Given the description of an element on the screen output the (x, y) to click on. 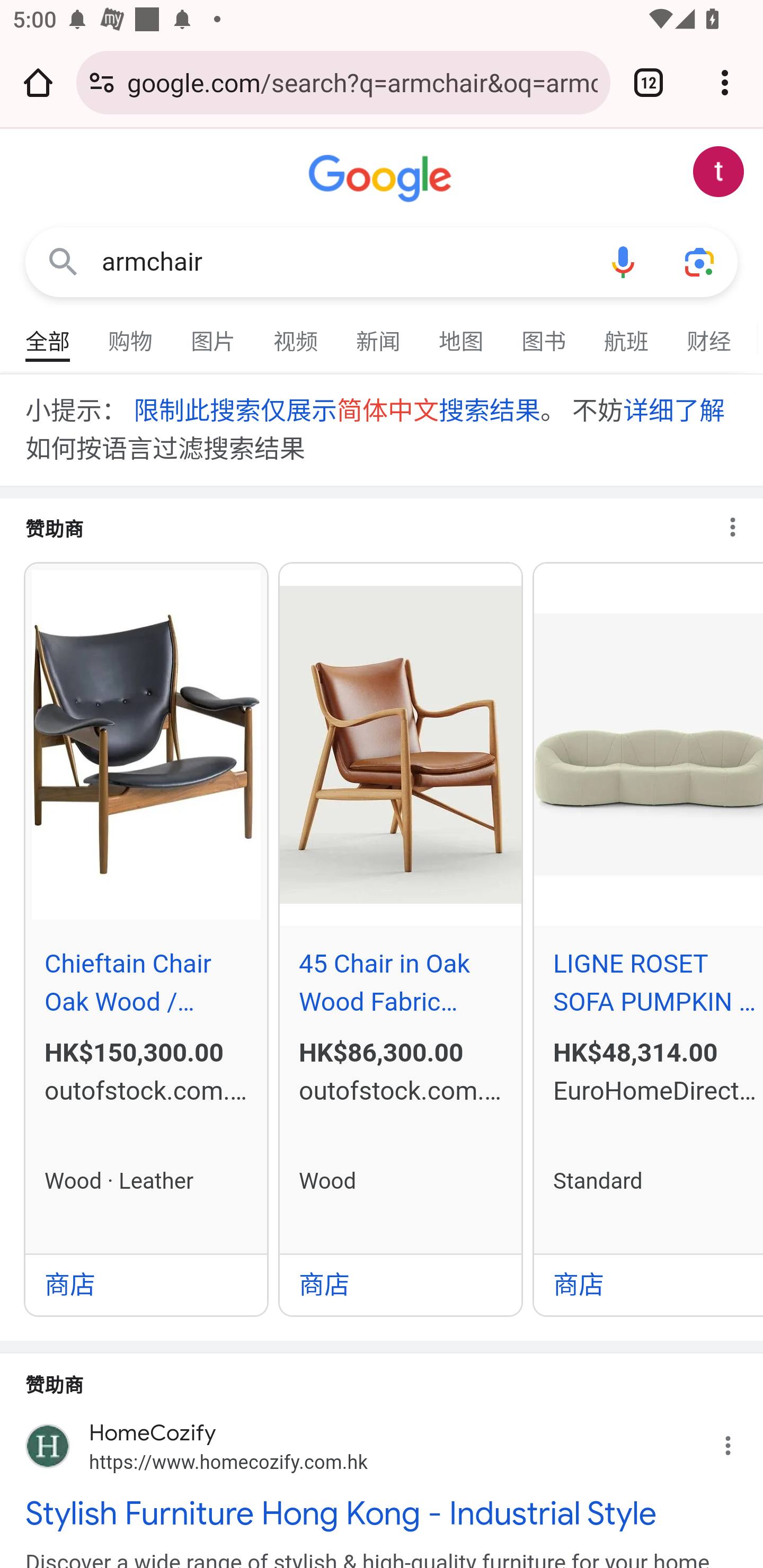
Open the home page (38, 82)
Connection is secure (101, 82)
Switch or close tabs (648, 82)
Customize and control Google Chrome (724, 82)
Google (381, 179)
Google 账号： test appium (testappium002@gmail.com) (718, 171)
Google 搜索 (63, 262)
使用拍照功能或照片进行搜索 (699, 262)
armchair (343, 261)
购物 (131, 333)
图片 (213, 333)
视频 (296, 333)
新闻 (379, 333)
地图 (461, 333)
图书 (544, 333)
航班 (627, 333)
财经 (709, 333)
限制此搜索仅展示简体中文搜索结果 限制此搜索仅展示 简体中文 搜索结果 (335, 409)
详细了解 (672, 409)
为什么会显示该广告？ (740, 522)
商店 商店 商店 (146, 1283)
商店 商店 商店 (400, 1283)
商店 商店 商店 (648, 1283)
为什么会显示该广告？ (738, 1441)
Stylish Furniture Hong Kong - Industrial Style (381, 1513)
